Given the description of an element on the screen output the (x, y) to click on. 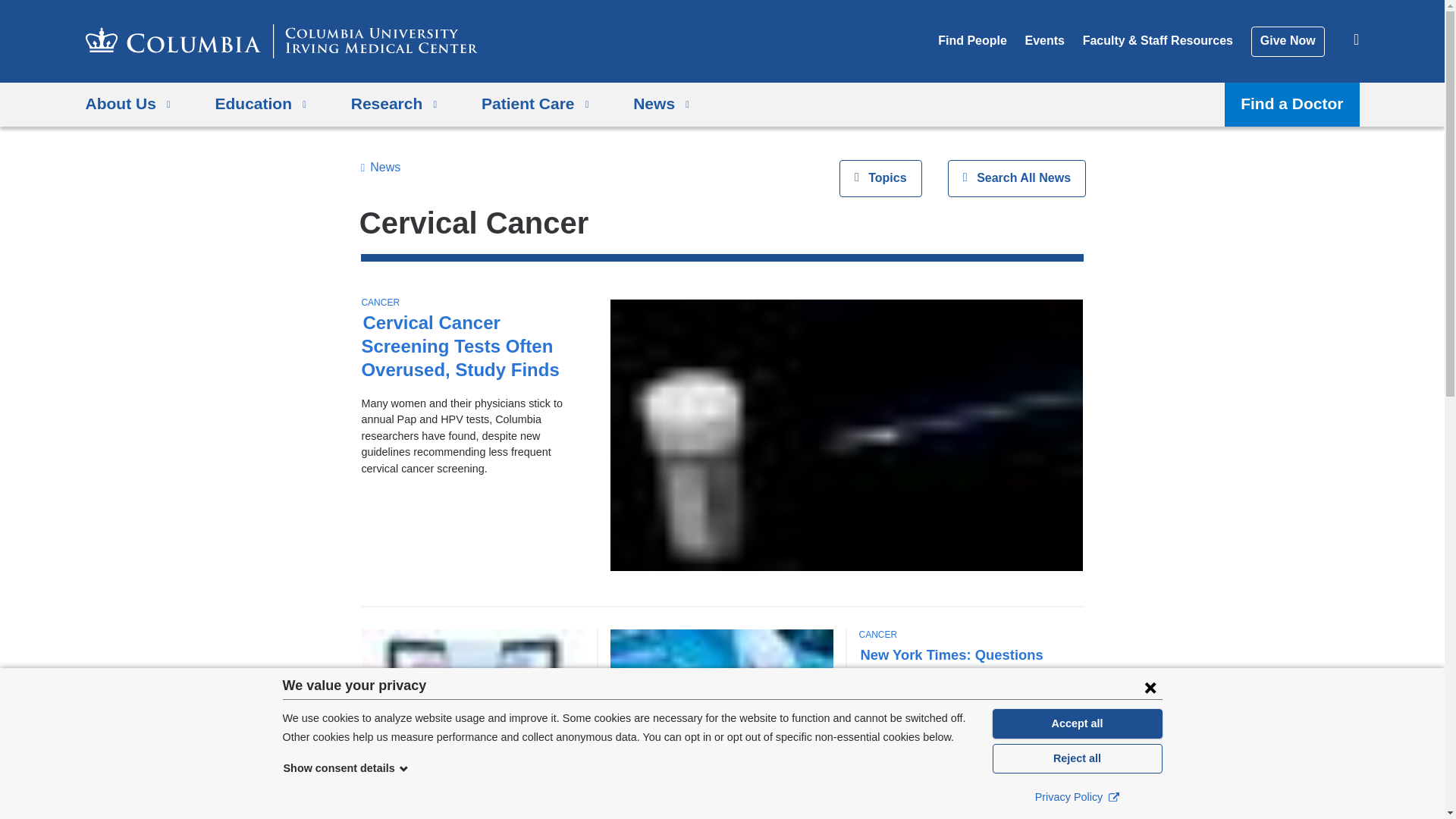
Privacy Policy External link Opens in a new window (1076, 796)
Show consent details (346, 768)
External link Opens in a new window (1113, 796)
Education (260, 104)
About Us (127, 104)
Reject all (1076, 758)
Events (1044, 40)
Accept all (1076, 723)
Find People (972, 40)
